Given the description of an element on the screen output the (x, y) to click on. 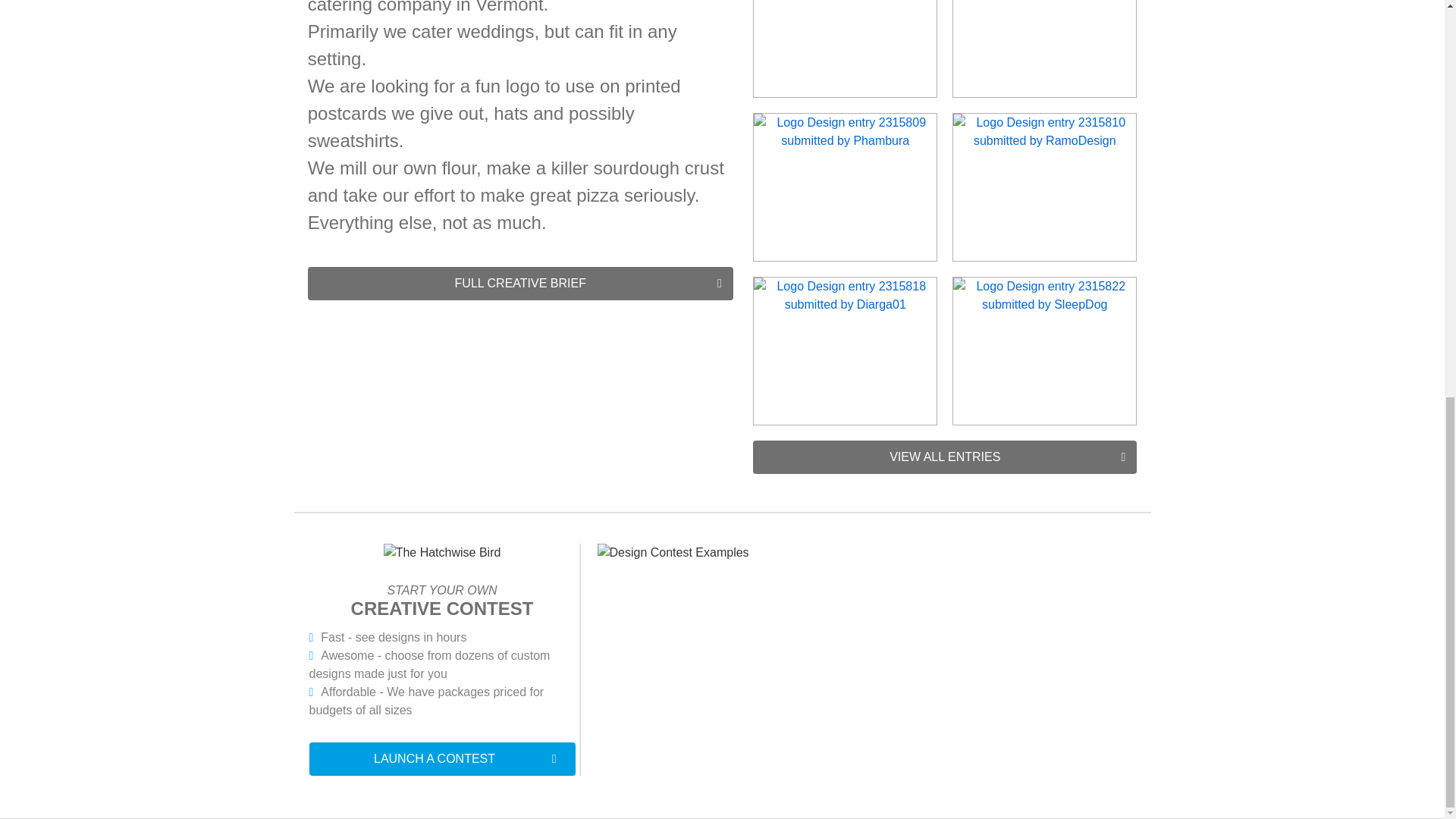
FULL CREATIVE BRIEF (520, 283)
VIEW ALL ENTRIES (944, 457)
LAUNCH A CONTEST (441, 758)
